Given the description of an element on the screen output the (x, y) to click on. 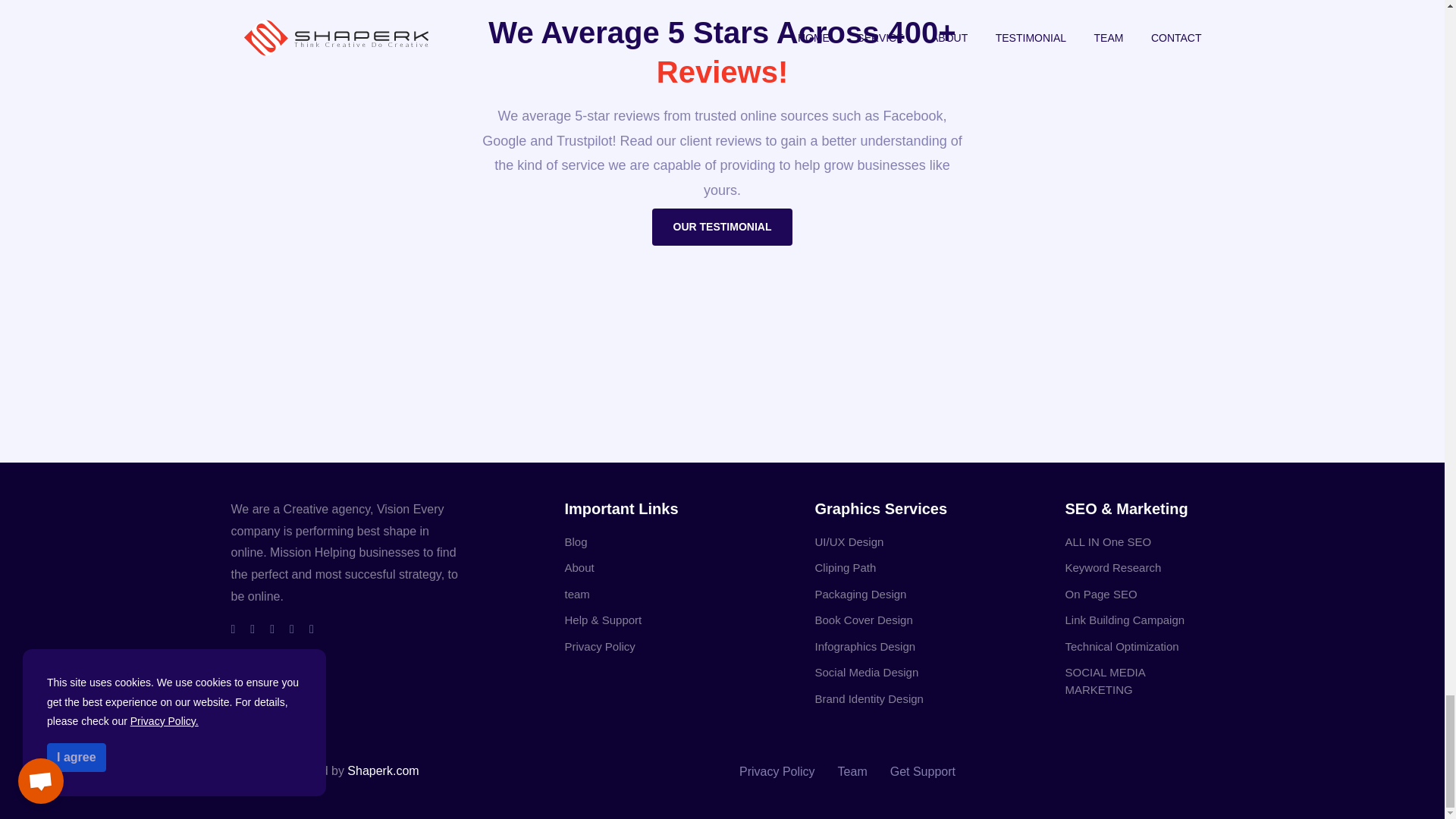
Facbook (232, 628)
Linkedin (291, 628)
Twitter (252, 628)
Instagram (272, 628)
Youtube (311, 628)
